Given the description of an element on the screen output the (x, y) to click on. 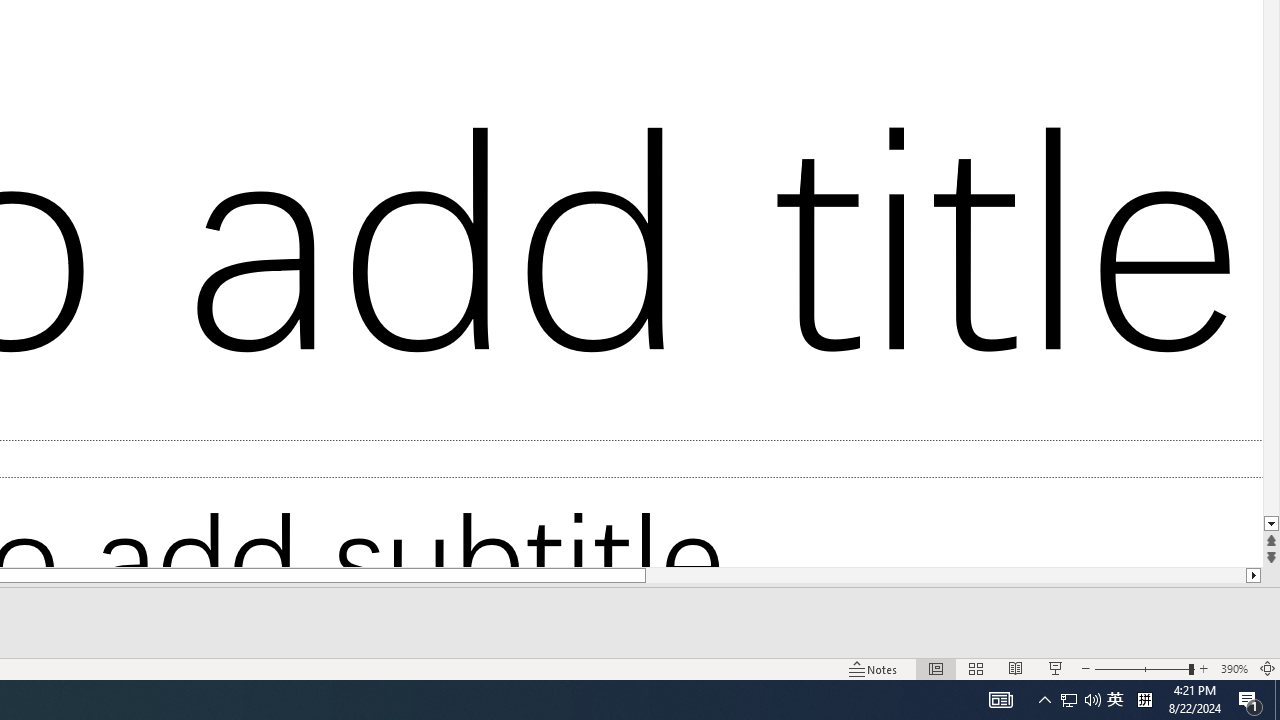
Page down (1267, 486)
Line down (1267, 613)
Zoom 95% (1249, 640)
